Given the description of an element on the screen output the (x, y) to click on. 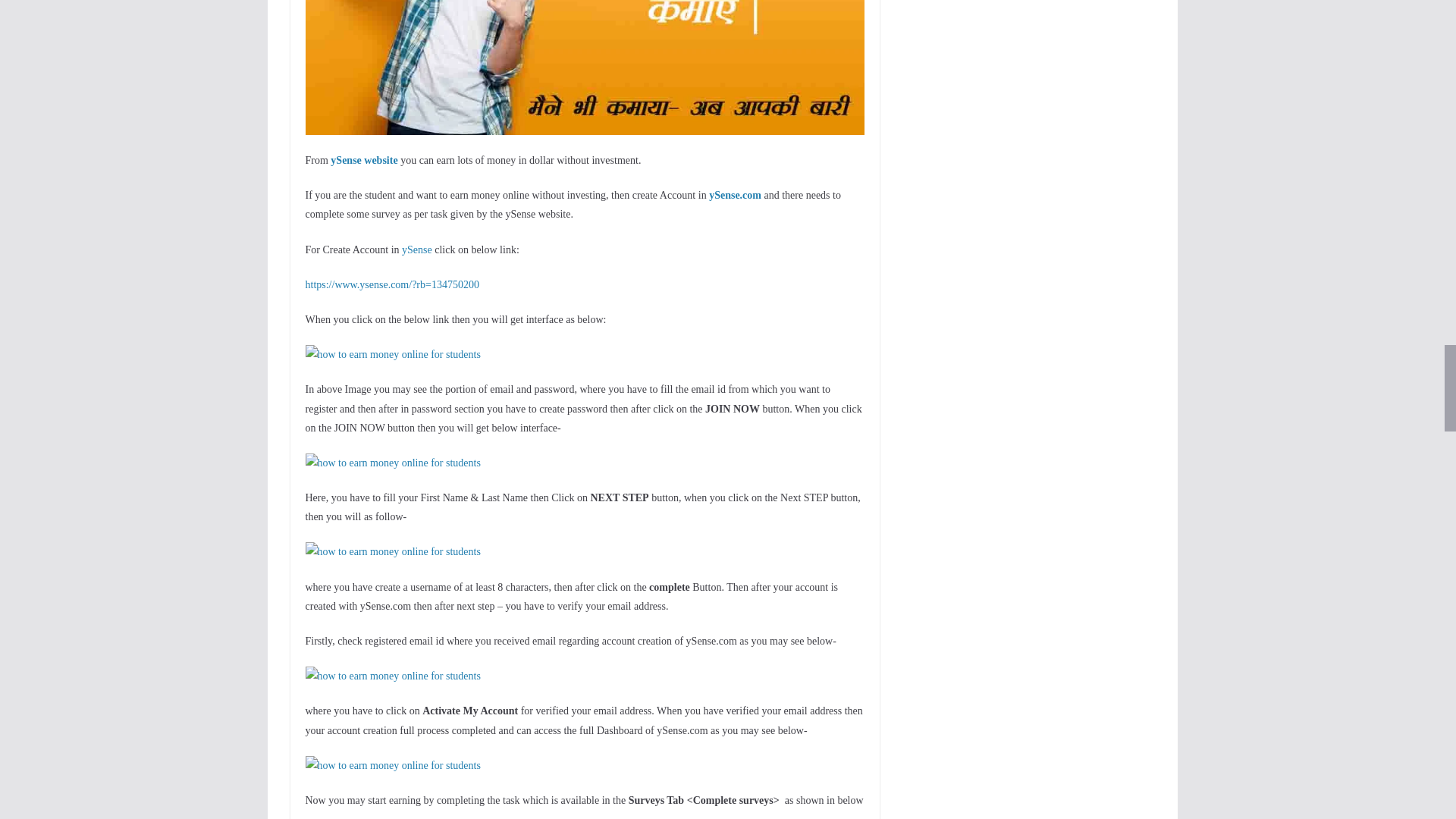
ySense website (363, 160)
